Given the description of an element on the screen output the (x, y) to click on. 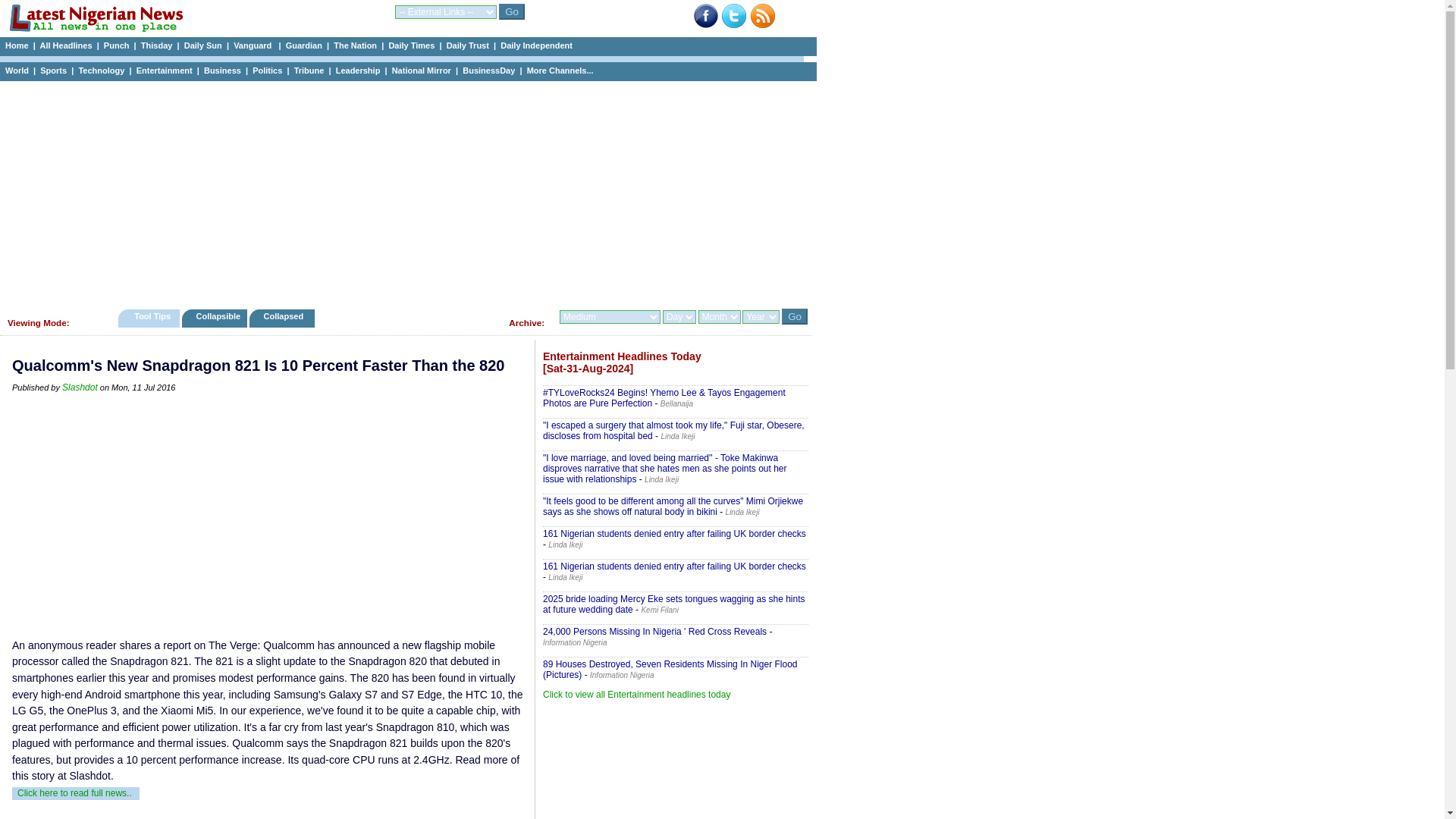
Go (794, 316)
Daily Trust (467, 44)
    Tool Tips     (148, 318)
   Collapsible    (213, 318)
National Mirror (421, 70)
Business (222, 70)
All Headlines (65, 44)
Home (17, 44)
